Given the description of an element on the screen output the (x, y) to click on. 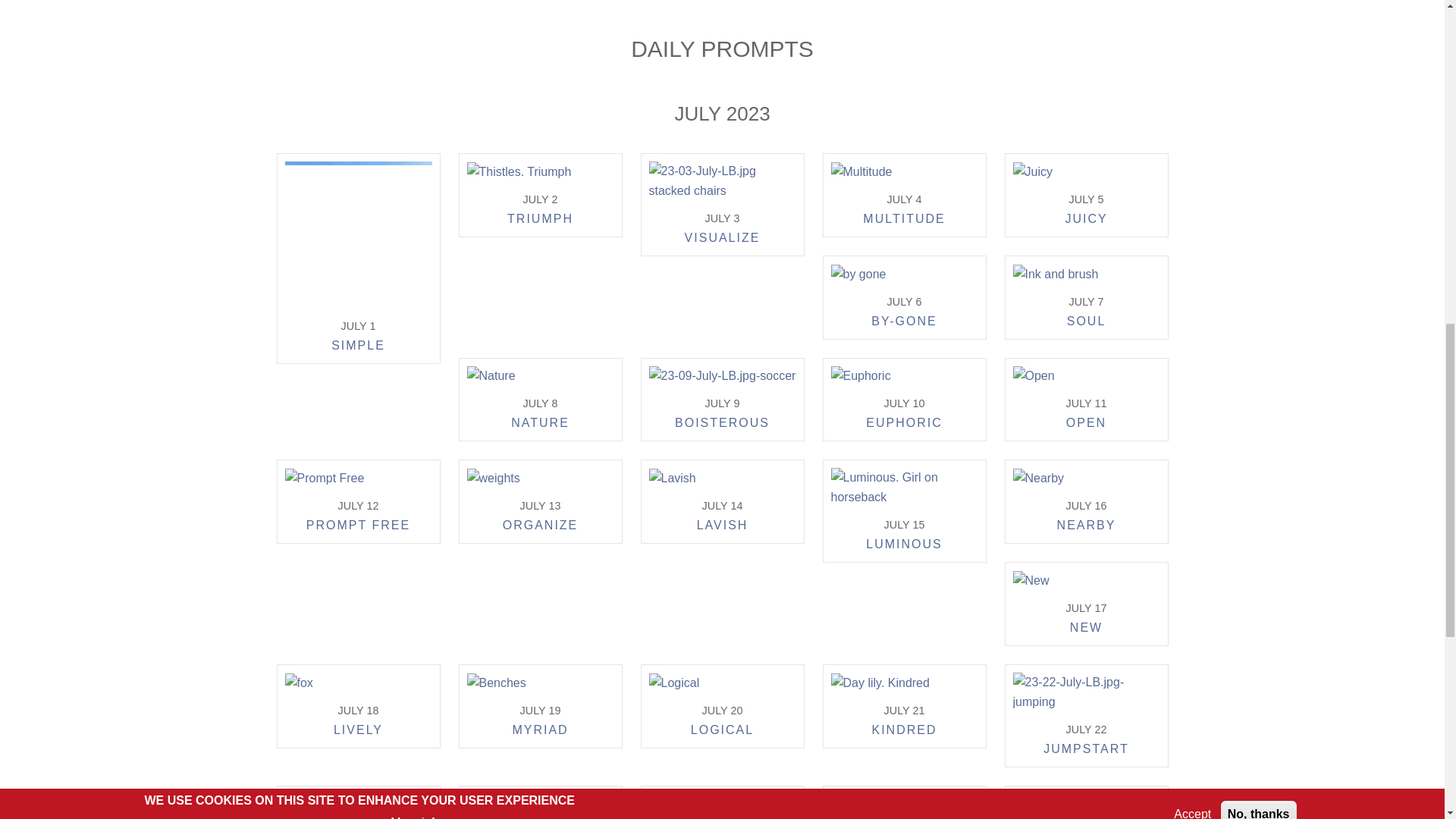
BOISTEROUS (722, 425)
ORGANIZE (540, 527)
BY-GONE (903, 323)
VISUALIZE (722, 239)
MULTITUDE (903, 221)
NEARBY (1086, 527)
OPEN (1085, 425)
SIMPLE (358, 348)
EUPHORIC (904, 425)
JUICY (1085, 221)
